Given the description of an element on the screen output the (x, y) to click on. 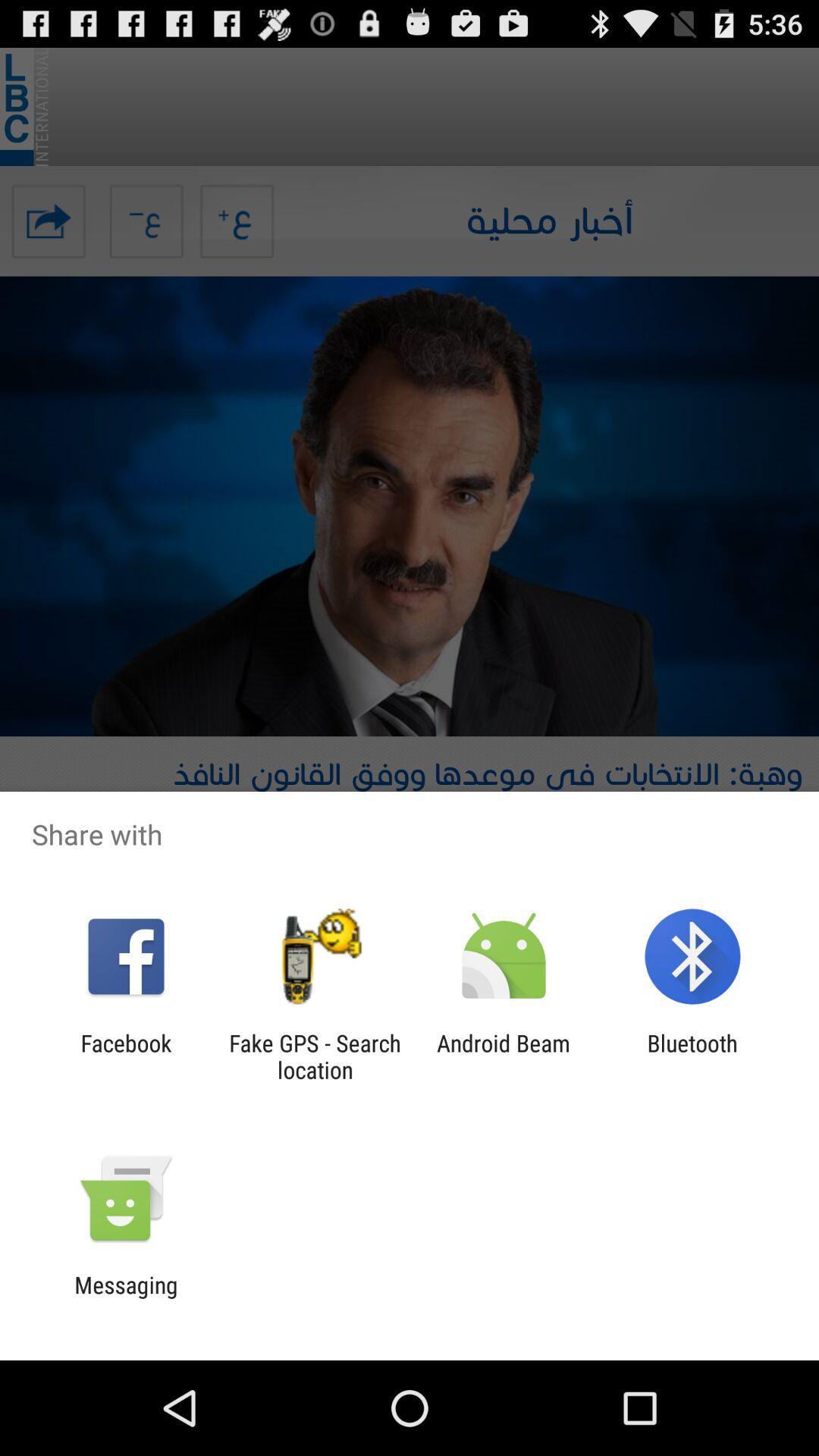
launch the icon next to the bluetooth app (503, 1056)
